Given the description of an element on the screen output the (x, y) to click on. 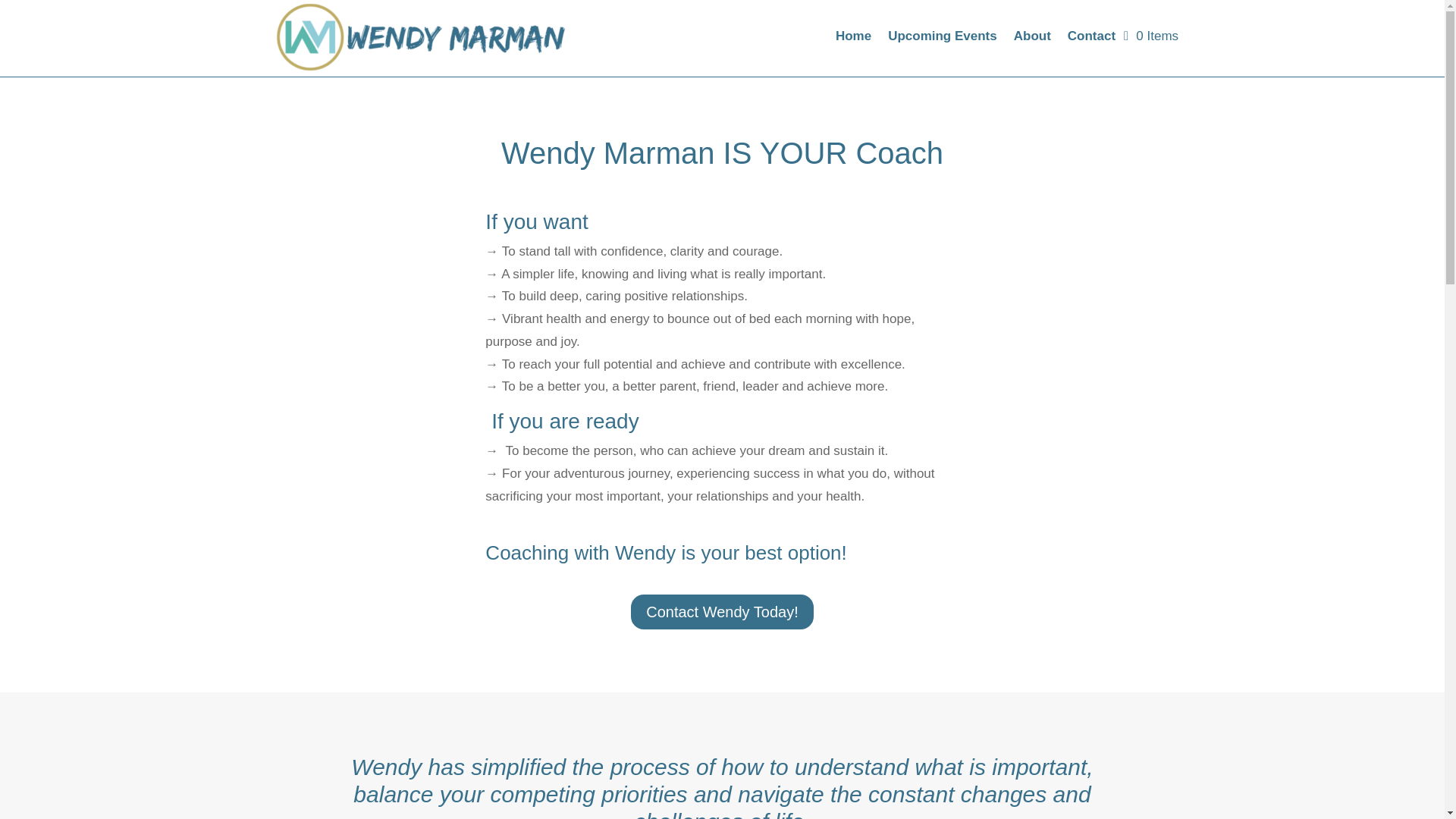
Upcoming Events (942, 39)
0 Items (1150, 36)
Home (852, 39)
Wendy Marman (417, 38)
Contact Wendy Today! (721, 611)
Contact (1091, 39)
About (1032, 39)
